Given the description of an element on the screen output the (x, y) to click on. 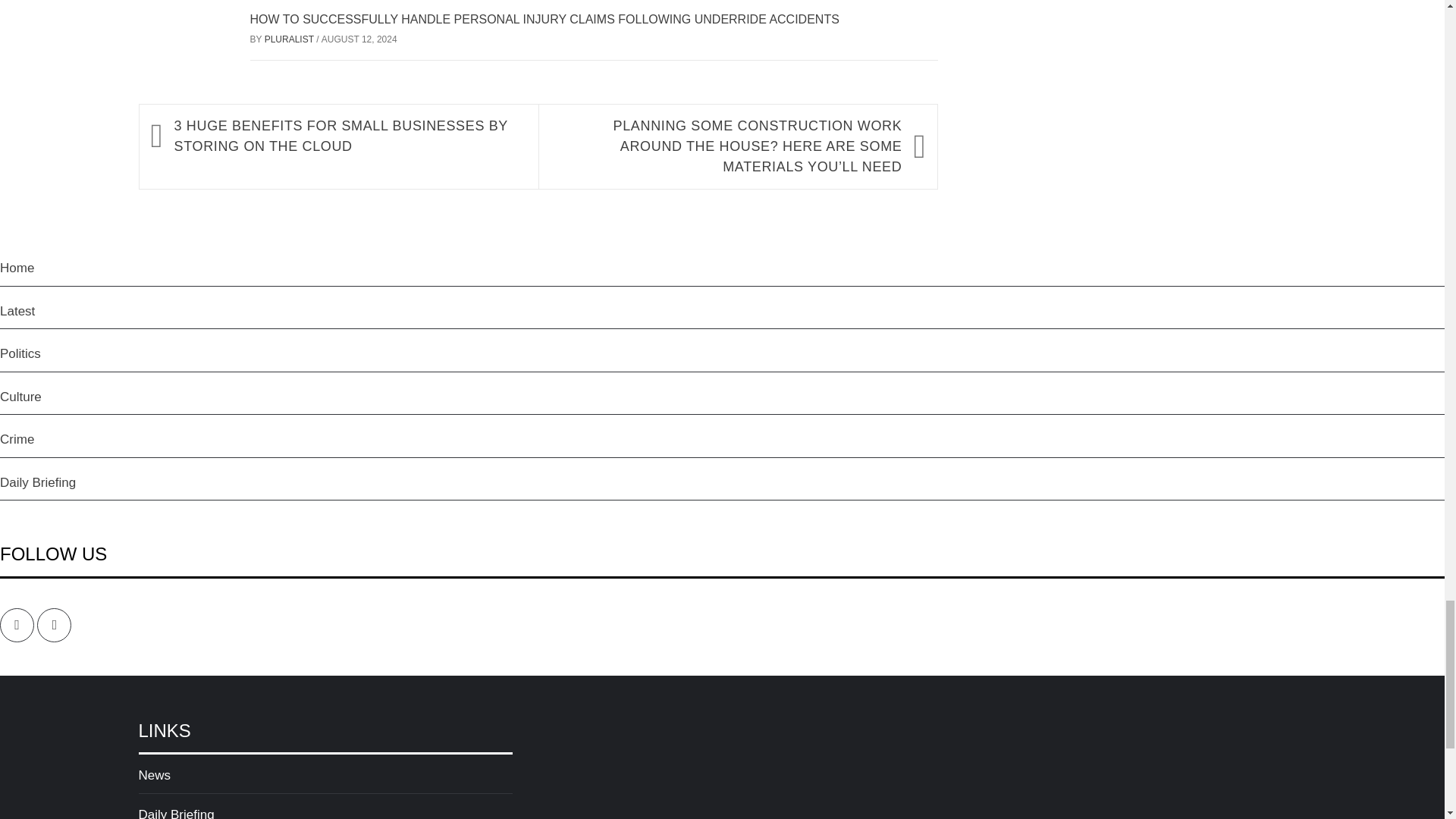
PLURALIST (289, 39)
3 HUGE BENEFITS FOR SMALL BUSINESSES BY STORING ON THE CLOUD (348, 136)
